Given the description of an element on the screen output the (x, y) to click on. 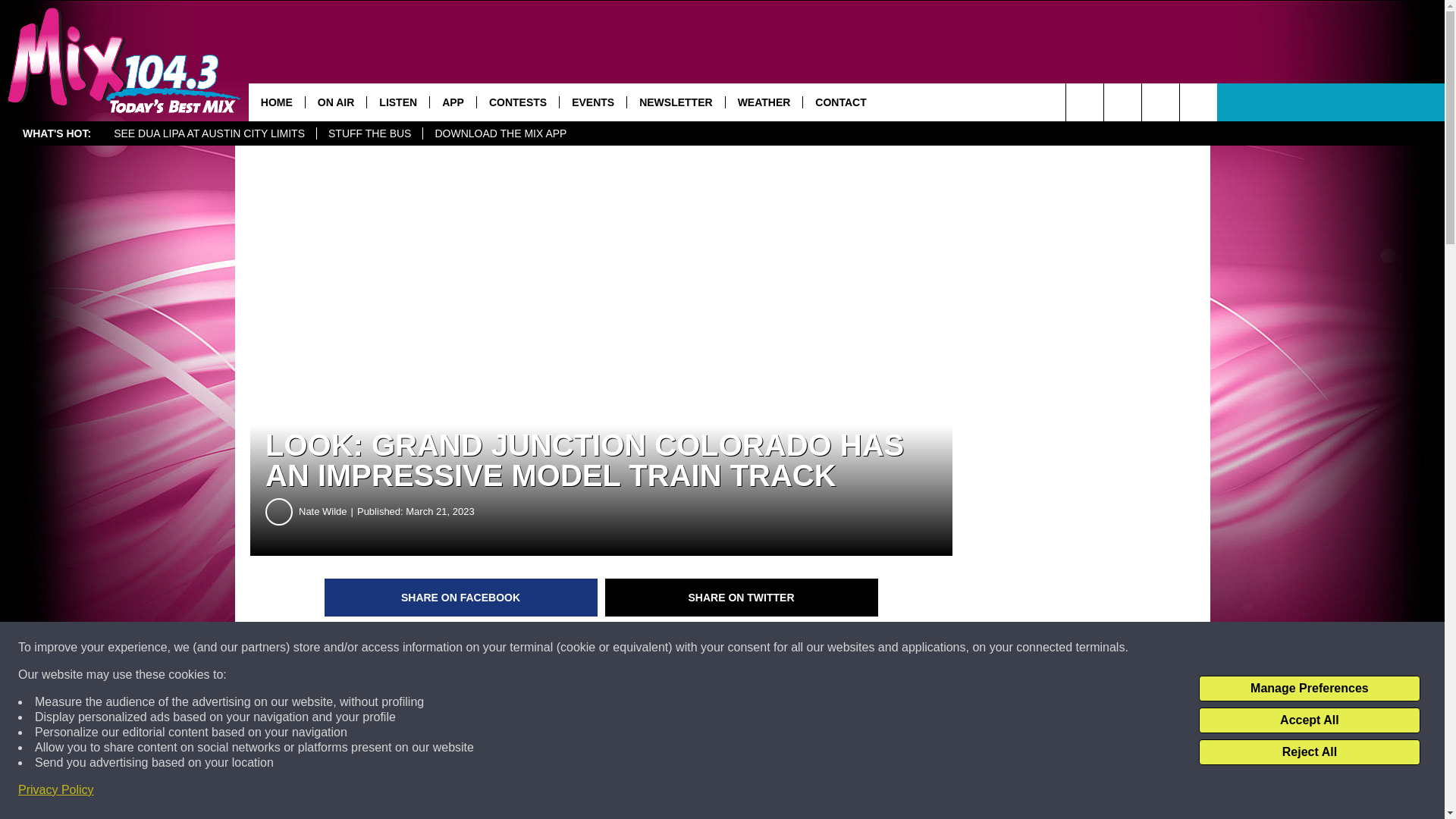
APP (452, 102)
Share on Facebook (460, 597)
Accept All (1309, 720)
DOWNLOAD THE MIX APP (500, 133)
LISTEN (397, 102)
EVENTS (592, 102)
NEWSLETTER (674, 102)
WHAT'S HOT: (56, 133)
CONTESTS (517, 102)
SEE DUA LIPA AT AUSTIN CITY LIMITS (208, 133)
HOME (276, 102)
Reject All (1309, 751)
STUFF THE BUS (368, 133)
Share on Twitter (741, 597)
ON AIR (335, 102)
